Given the description of an element on the screen output the (x, y) to click on. 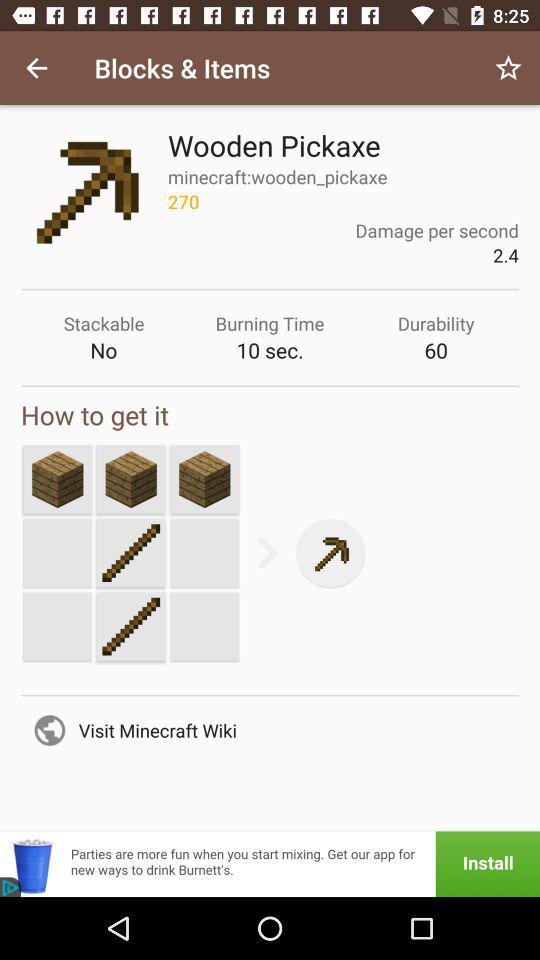
pick this spot (204, 479)
